Given the description of an element on the screen output the (x, y) to click on. 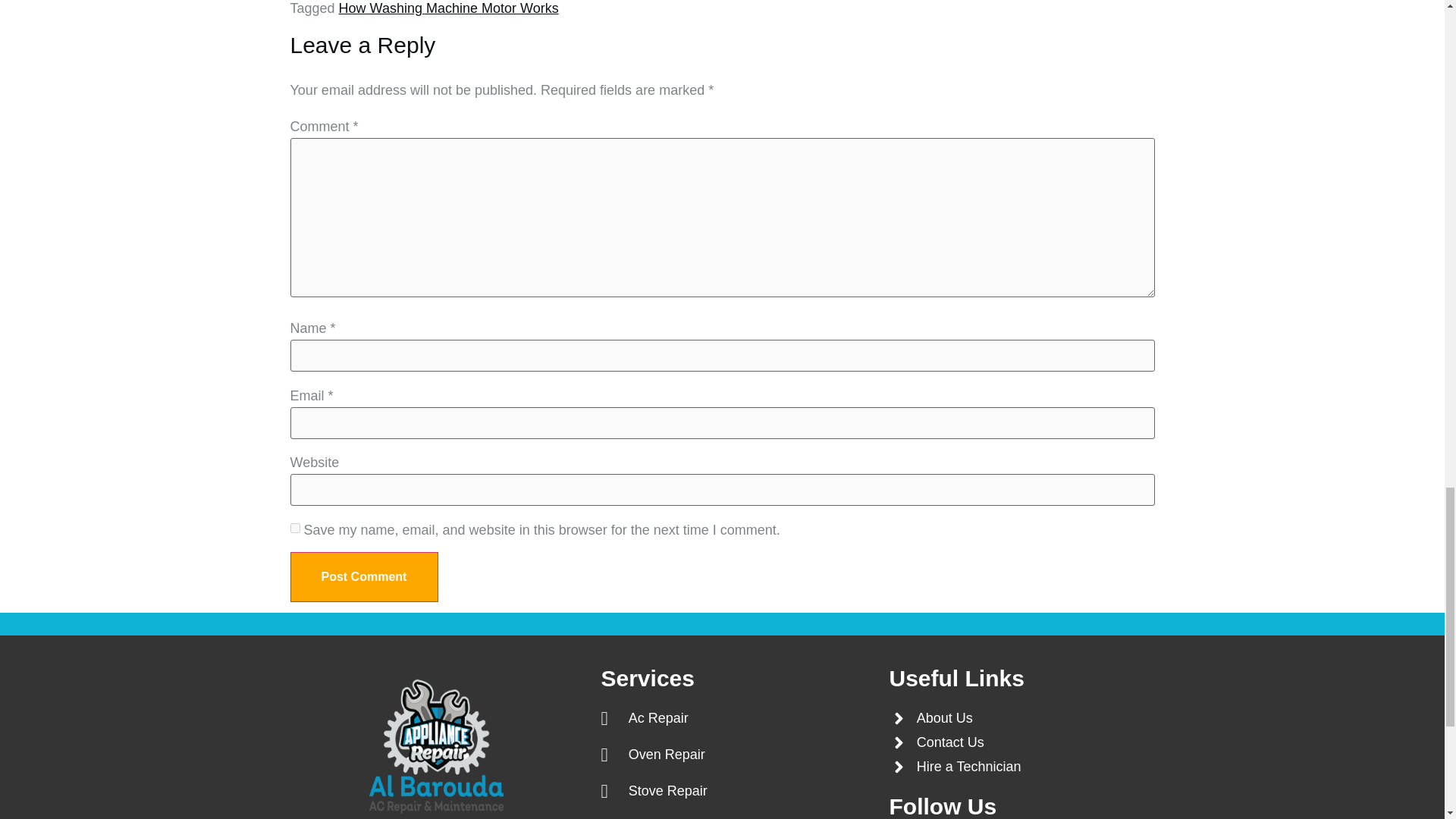
How Washing Machine Motor Works (449, 7)
Post Comment (363, 576)
Post Comment (363, 576)
yes (294, 528)
